Given the description of an element on the screen output the (x, y) to click on. 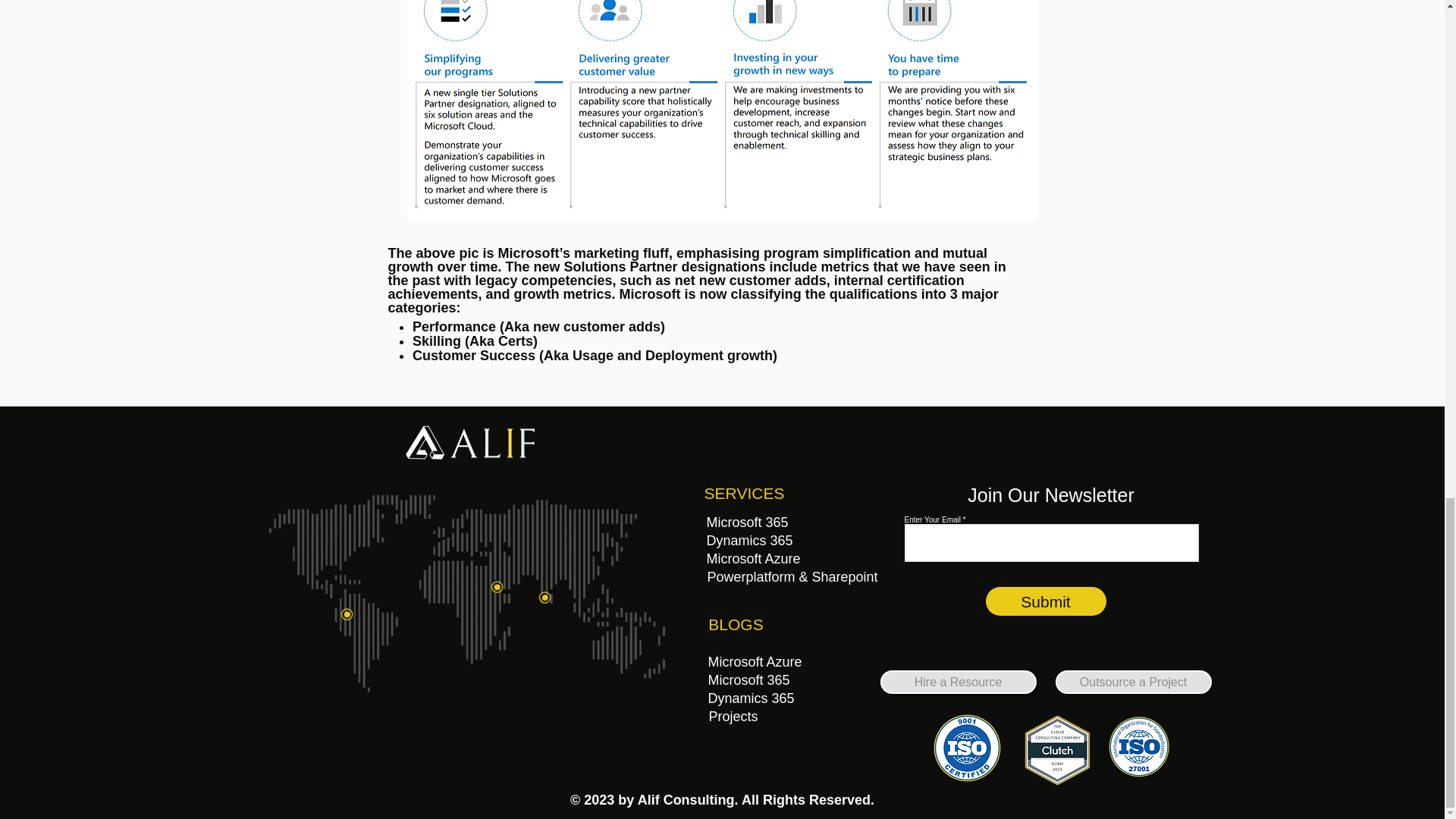
Microsoft Azure (753, 558)
Dynamics 365 (750, 698)
Microsoft 365 (748, 679)
Projects (732, 716)
Outsource a Project (1133, 681)
Microsoft 365 (747, 522)
Submit (1045, 601)
Hire a Resource (957, 681)
Microsoft Azure (754, 661)
Dynamics 365 (749, 540)
